Given the description of an element on the screen output the (x, y) to click on. 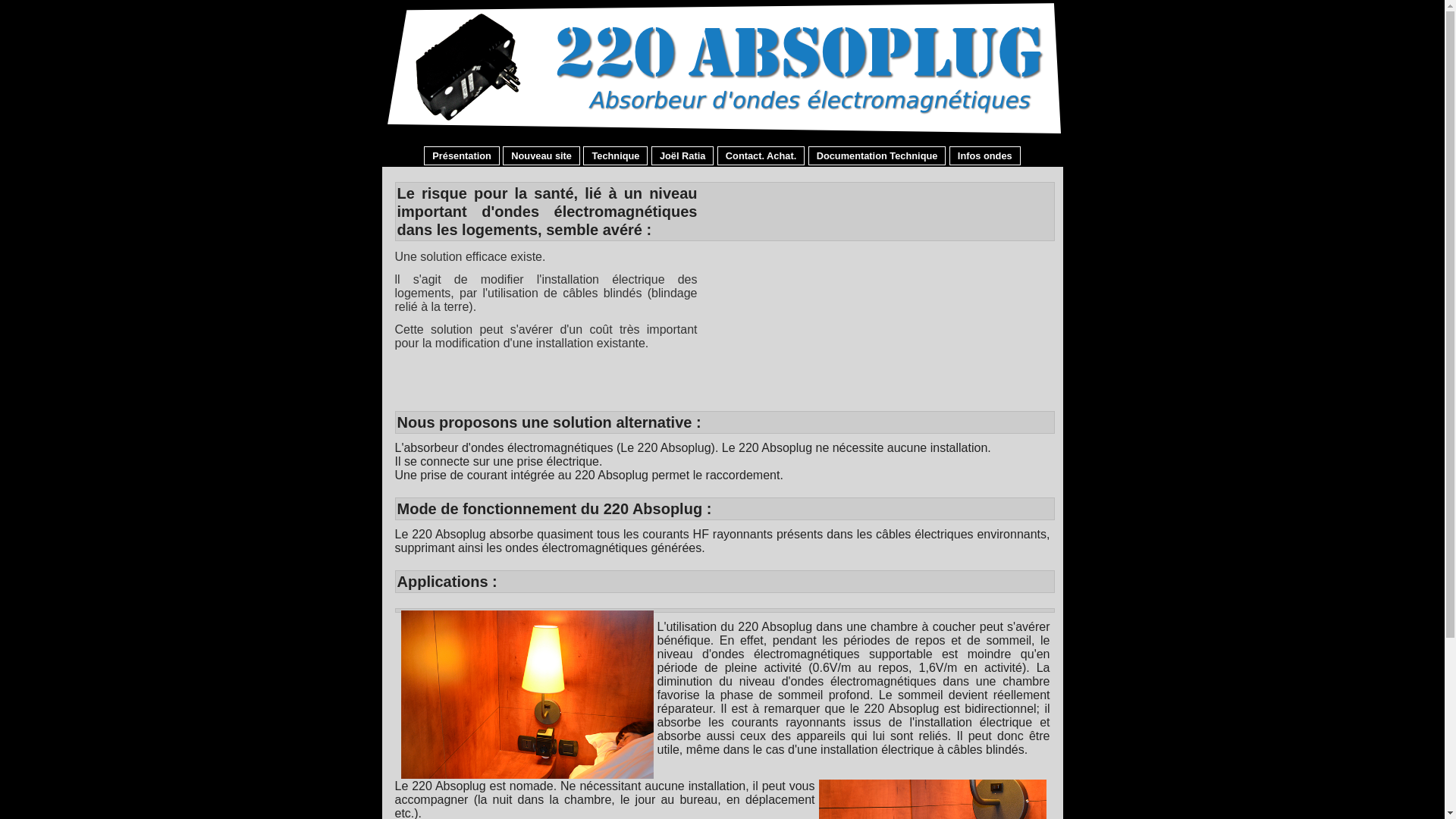
Technique Element type: text (615, 155)
Infos ondes Element type: text (984, 155)
Documentation Technique Element type: text (877, 155)
Nouveau site Element type: text (541, 155)
Contact. Achat. Element type: text (760, 155)
